Given the description of an element on the screen output the (x, y) to click on. 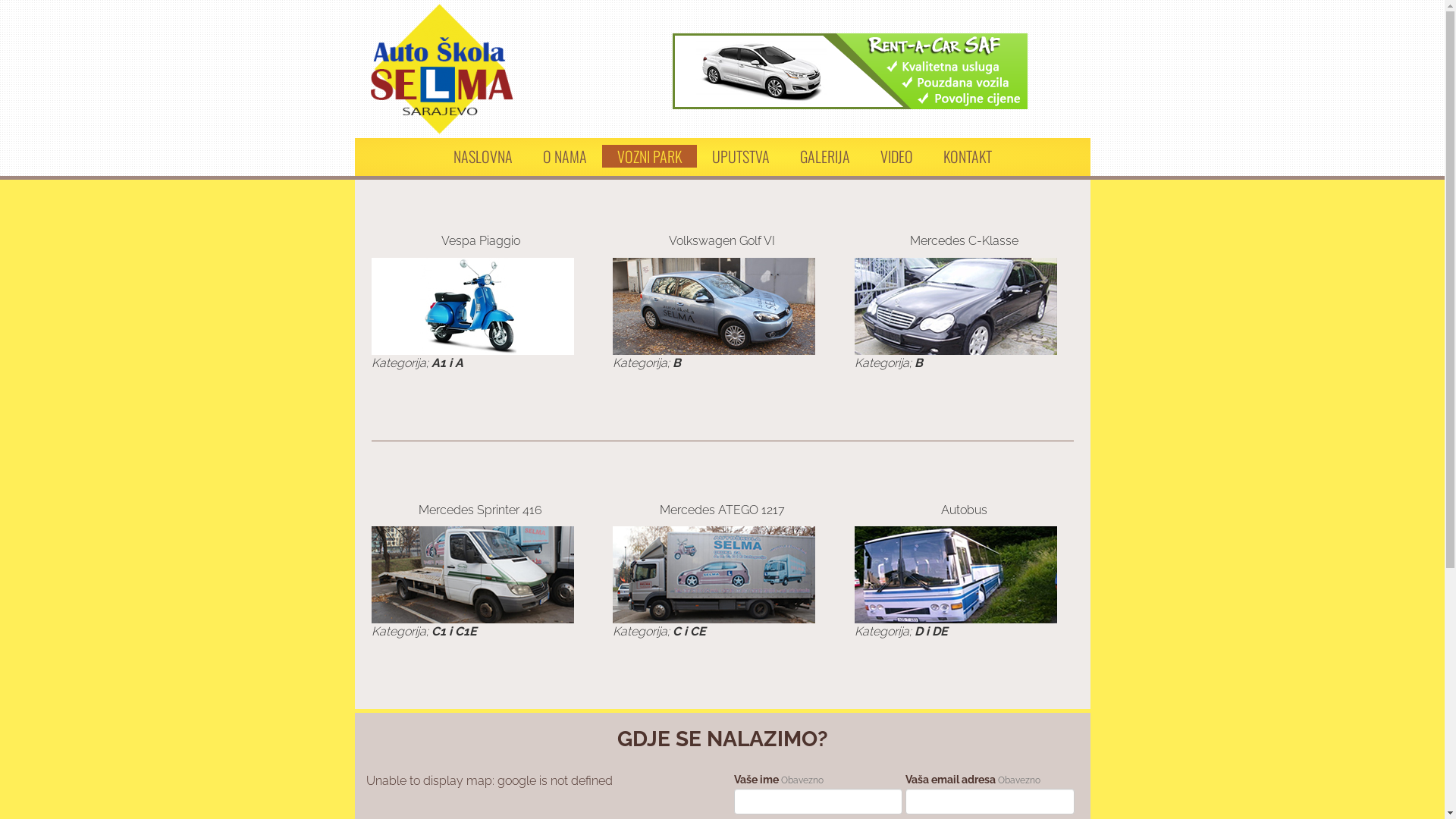
NASLOVNA Element type: text (482, 155)
VOZNI PARK Element type: text (649, 155)
VIDEO Element type: text (895, 155)
UPUTSTVA Element type: text (740, 155)
KONTAKT Element type: text (967, 155)
Rent-a-car SAF Sarajevo Element type: hover (849, 71)
O NAMA Element type: text (564, 155)
GALERIJA Element type: text (824, 155)
